Given the description of an element on the screen output the (x, y) to click on. 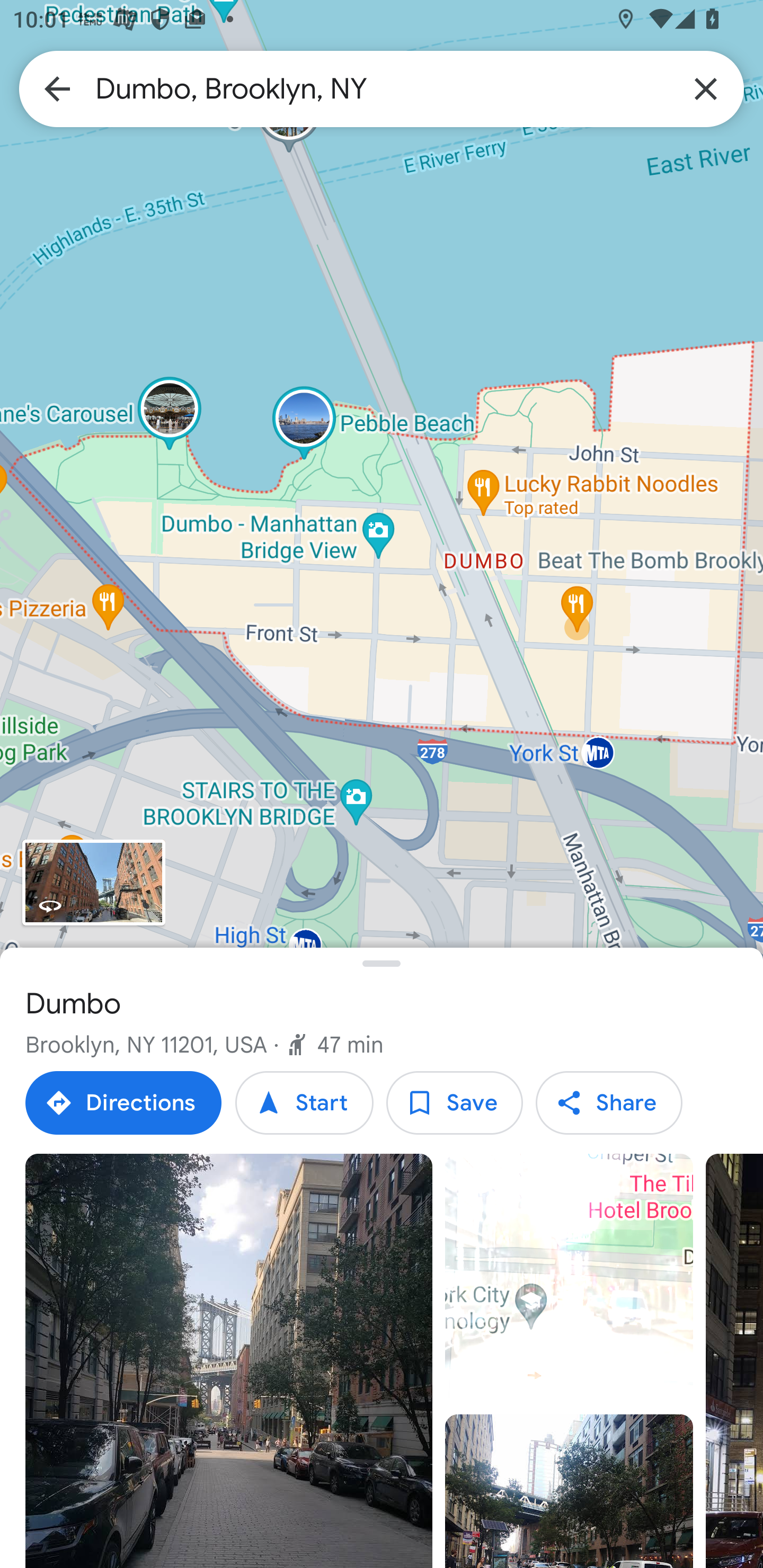
Back (57, 88)
Dumbo, Brooklyn, NY (381, 88)
Clear (705, 88)
View Street view imagery for Dumbo (93, 881)
Directions to Dumbo Directions Directions to Dumbo (123, 1102)
Start Start Start (304, 1102)
Save Dumbo to lists Save Save Dumbo to lists (454, 1102)
Share Dumbo Share Share Dumbo (608, 1102)
Photo (228, 1361)
Video (568, 1277)
Photo (568, 1491)
